Given the description of an element on the screen output the (x, y) to click on. 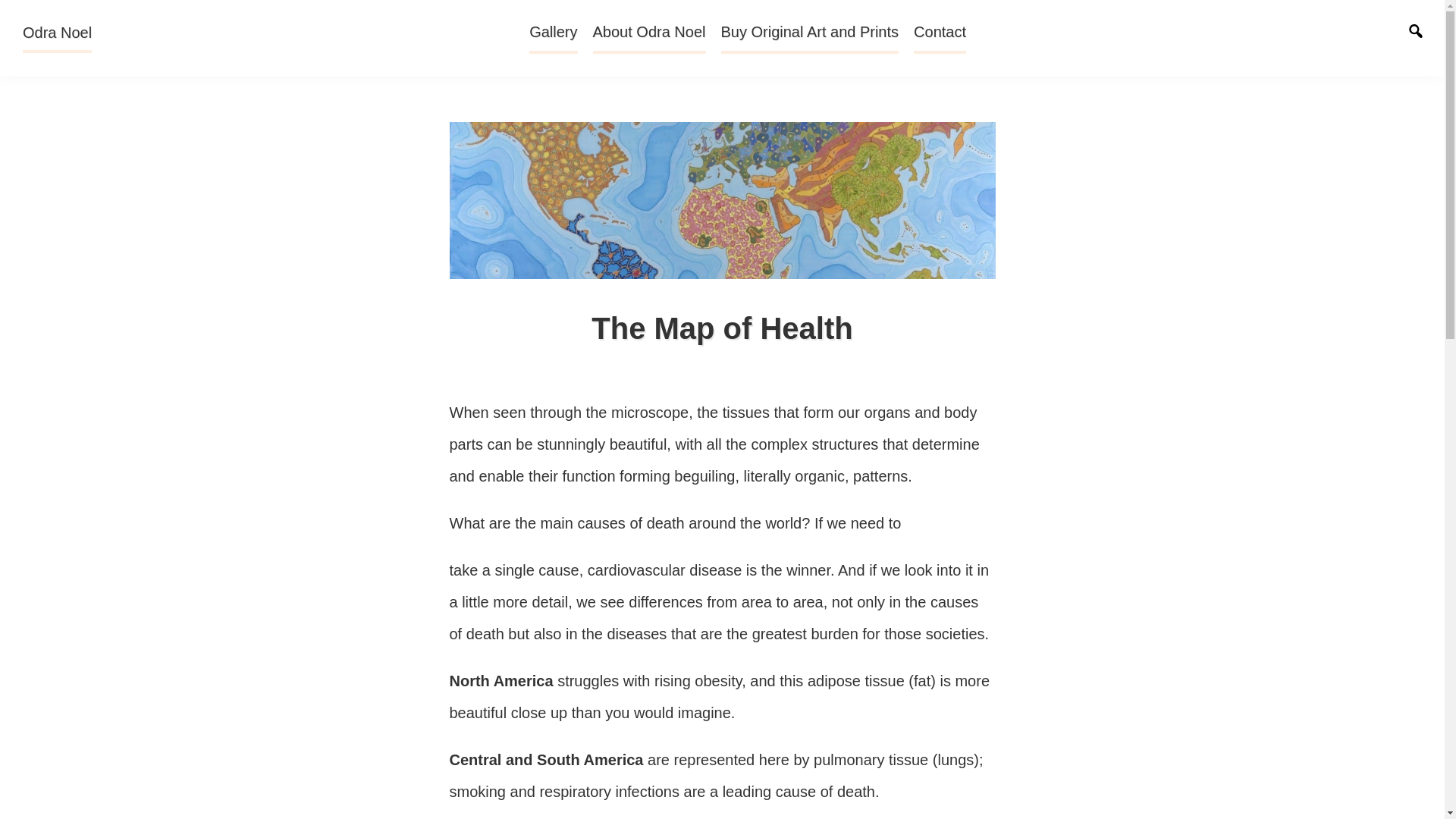
Odra Noel (57, 38)
Contact (940, 37)
About Odra Noel (649, 37)
Gallery (552, 37)
Buy Original Art and Prints (809, 37)
